Given the description of an element on the screen output the (x, y) to click on. 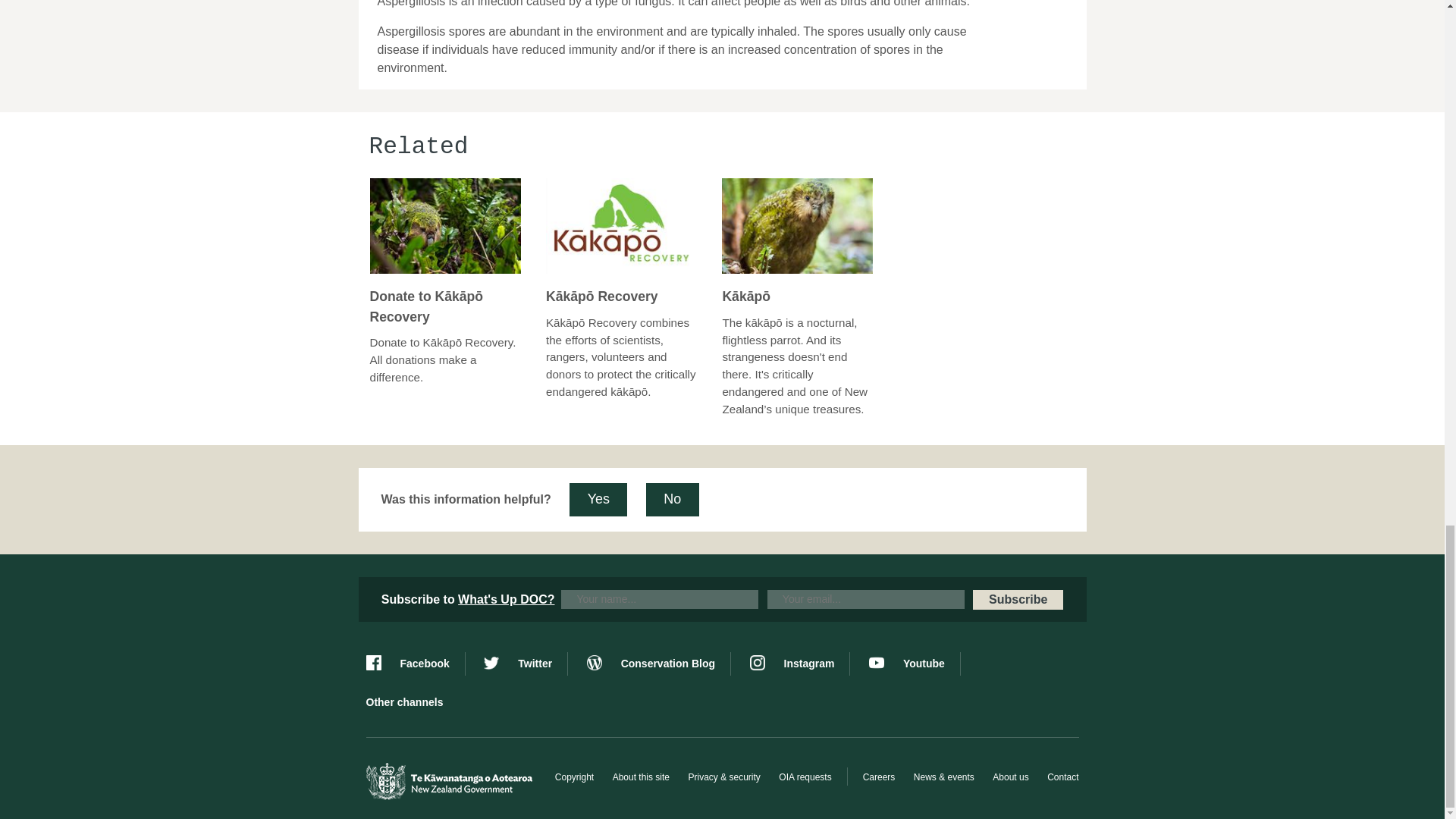
twitter (525, 663)
instagram (799, 663)
youtube (914, 663)
Subscribe (1017, 599)
facebook (414, 663)
blog (658, 663)
